Given the description of an element on the screen output the (x, y) to click on. 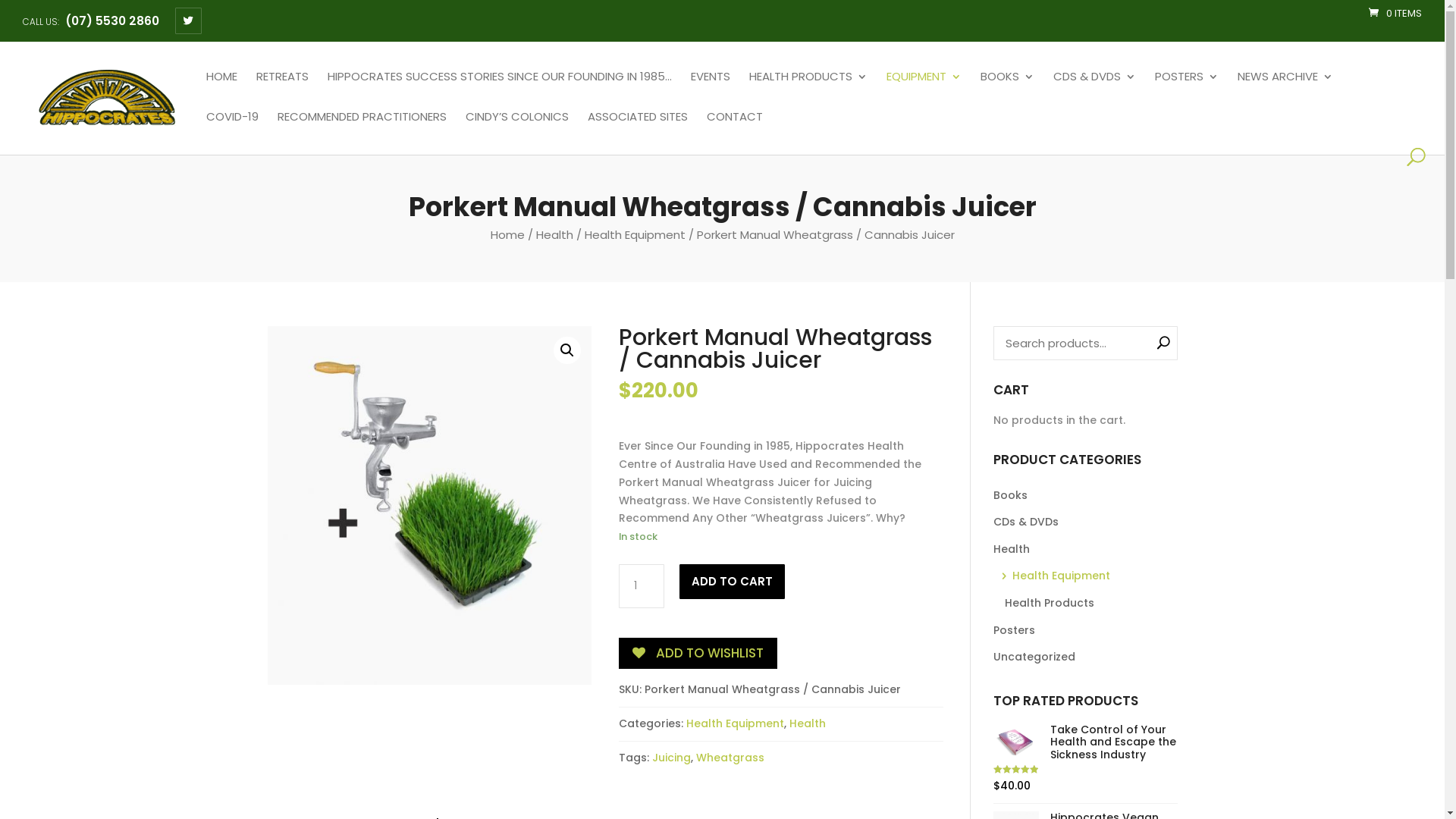
Books Element type: text (1085, 495)
NEWS ARCHIVE Element type: text (1285, 89)
Health Element type: text (553, 234)
Search Element type: text (23, 9)
Uncategorized Element type: text (1085, 657)
Health Equipment Element type: text (633, 234)
Juicing Element type: text (671, 757)
BOOKS Element type: text (1007, 89)
HEALTH PRODUCTS Element type: text (808, 89)
Health Element type: text (807, 723)
ADD TO WISHLIST Element type: text (697, 652)
POSTERS Element type: text (1186, 89)
HOME Element type: text (221, 89)
Health Products Element type: text (1090, 603)
ADD TO CART Element type: text (731, 581)
CONTACT Element type: text (734, 130)
Qty Element type: hover (641, 586)
EVENTS Element type: text (710, 89)
CDS & DVDS Element type: text (1094, 89)
Home Element type: text (506, 234)
Posters Element type: text (1085, 630)
CDs & DVDs Element type: text (1085, 522)
household-porkert-manual-juicer Element type: hover (428, 505)
COVID-19 Element type: text (232, 130)
Wheatgrass Element type: text (730, 757)
0 ITEMS Element type: text (1394, 13)
RETREATS Element type: text (282, 89)
ASSOCIATED SITES Element type: text (637, 130)
RECOMMENDED PRACTITIONERS Element type: text (361, 130)
Health Equipment Element type: text (1090, 575)
EQUIPMENT Element type: text (923, 89)
Health Equipment Element type: text (735, 723)
Health Element type: text (1085, 549)
Take Control of Your Health and Escape the Sickness Industry Element type: text (1085, 742)
